Given the description of an element on the screen output the (x, y) to click on. 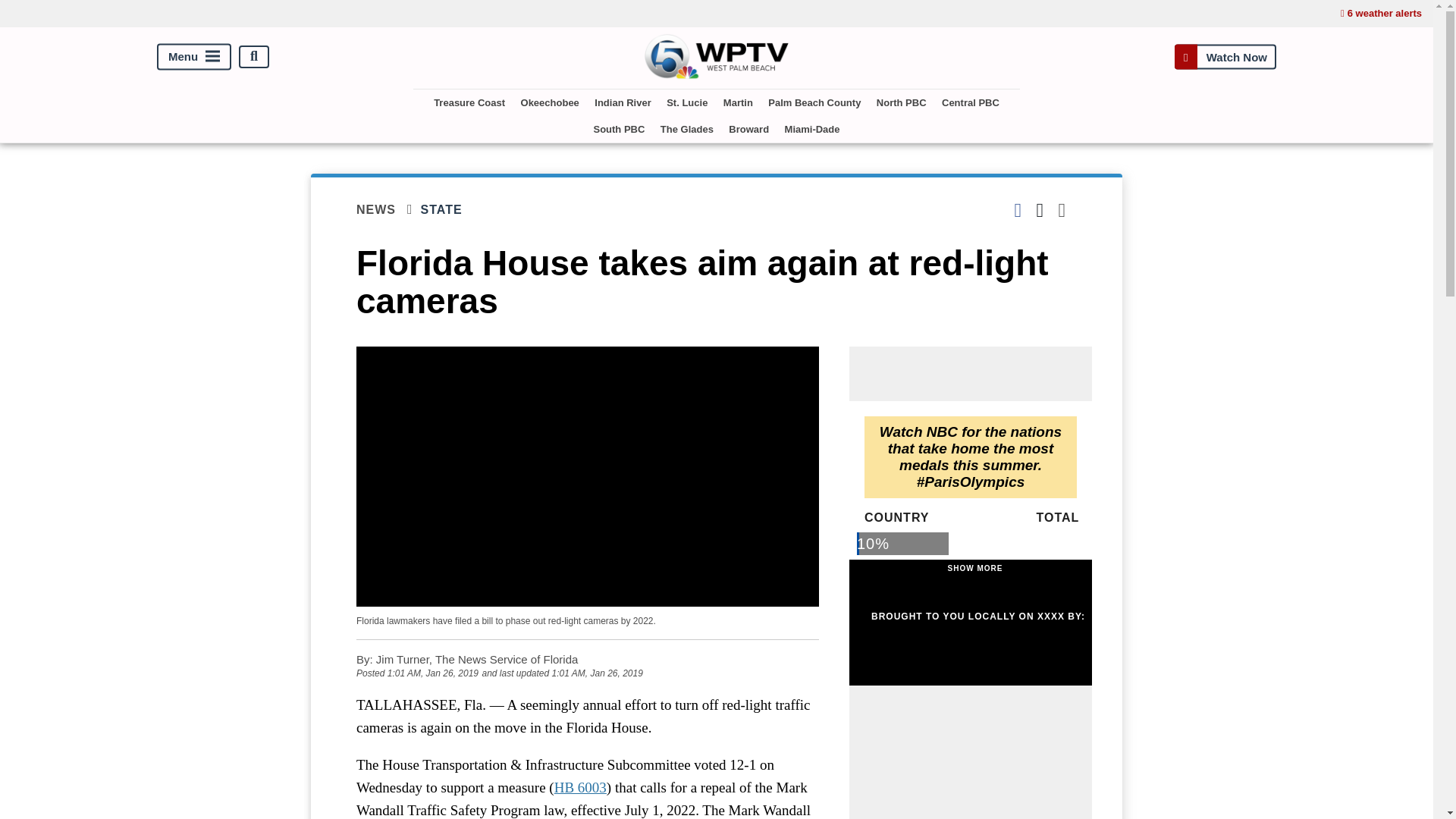
Menu (194, 56)
Watch Now (1224, 56)
